Given the description of an element on the screen output the (x, y) to click on. 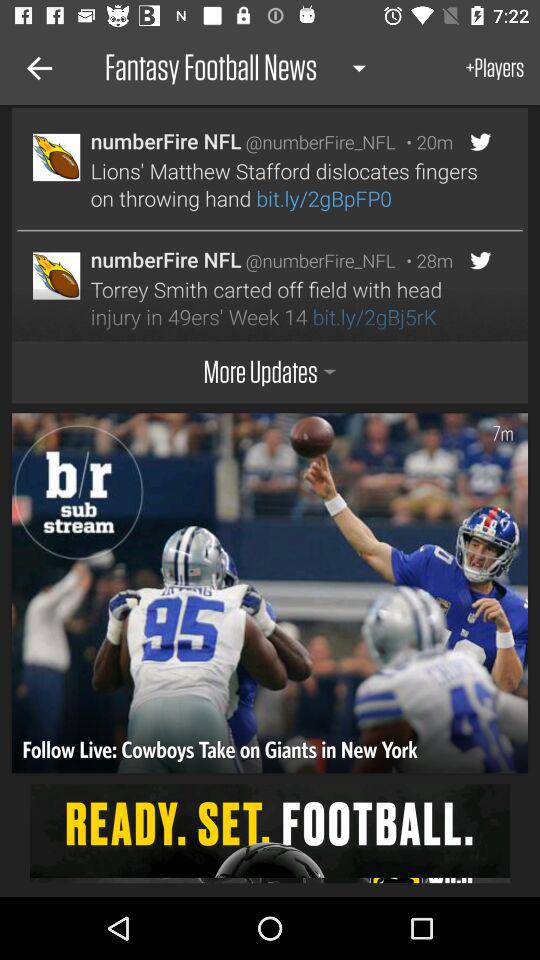
press icon next to @numberfire_nfl icon (423, 141)
